Given the description of an element on the screen output the (x, y) to click on. 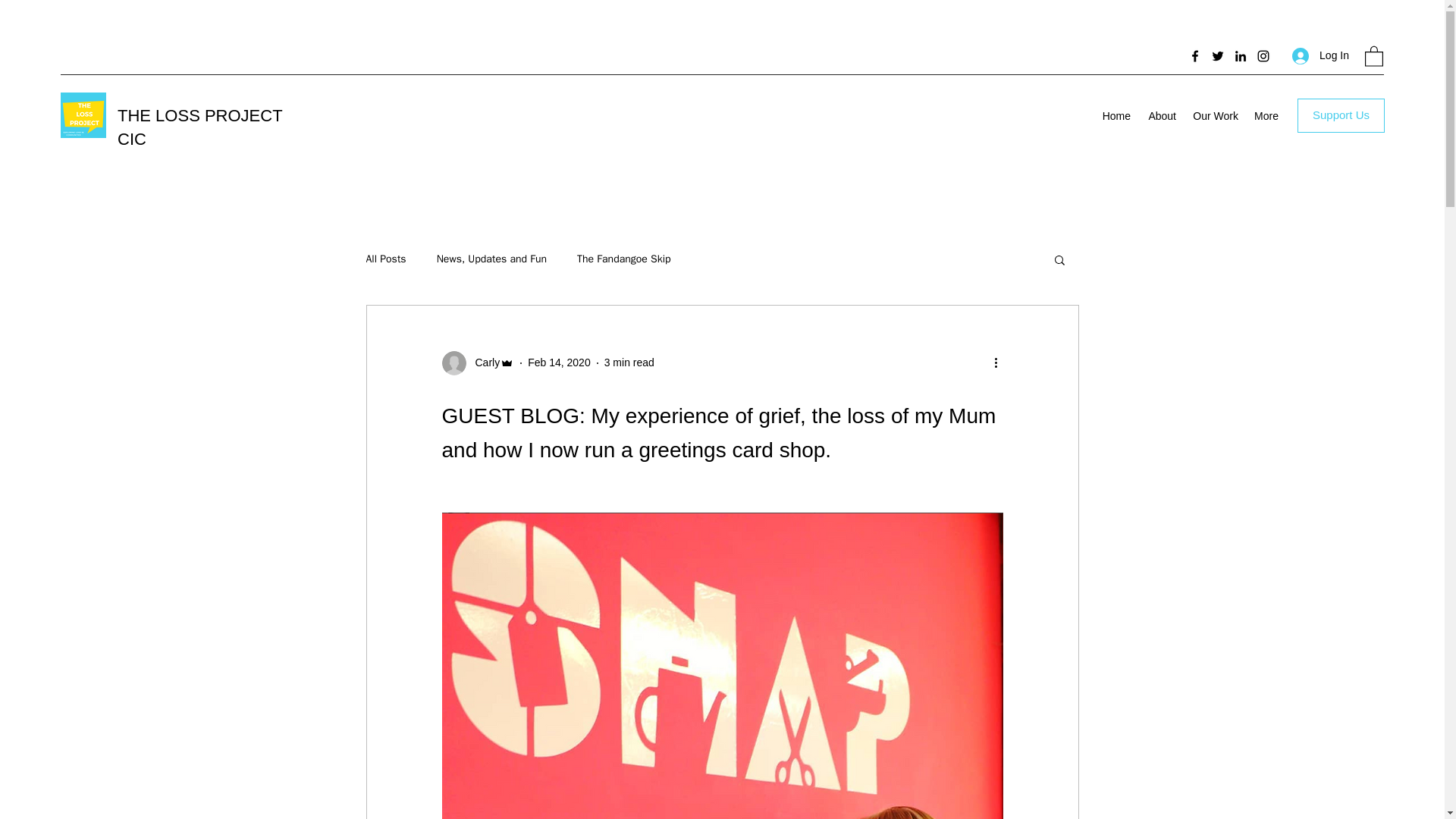
Our Work (1214, 115)
3 min read (628, 362)
The Fandangoe Skip (623, 259)
Home (1116, 115)
About (1160, 115)
All Posts (385, 259)
Support Us (1340, 115)
Carly (482, 362)
News, Updates and Fun (491, 259)
Carly (477, 363)
